Given the description of an element on the screen output the (x, y) to click on. 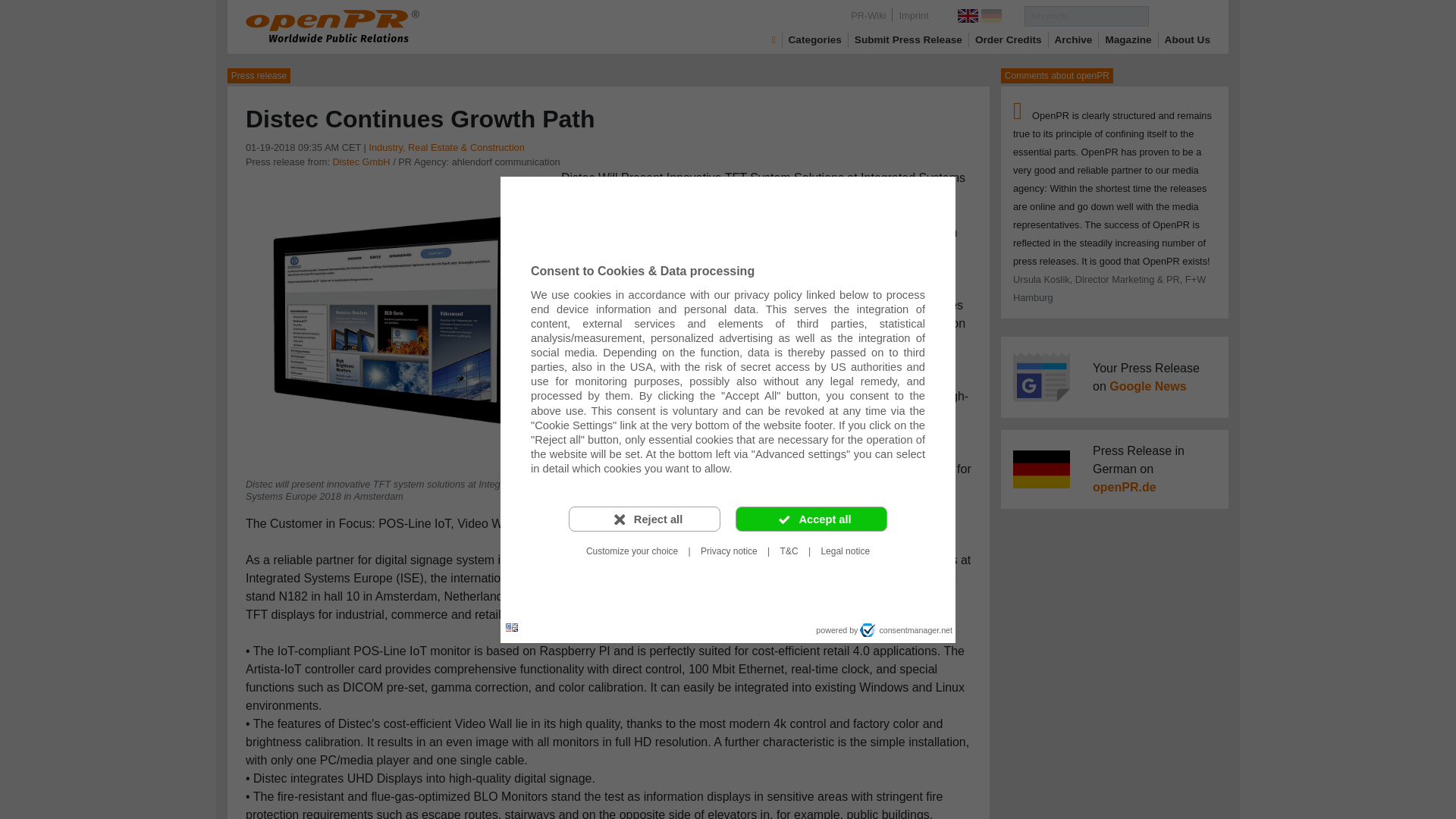
Order Credits (1008, 39)
consentmanager.net (906, 630)
Categories (815, 39)
Language: en (511, 627)
Accept all (810, 518)
archive und pressrelease of Distec GmbH (360, 161)
About Us (1186, 39)
PR-Wiki (867, 15)
Customize your choice (631, 550)
Language: en (511, 627)
Submit Press Release (908, 39)
Archive (1073, 39)
Magazine (1128, 39)
Privacy notice (729, 550)
